Given the description of an element on the screen output the (x, y) to click on. 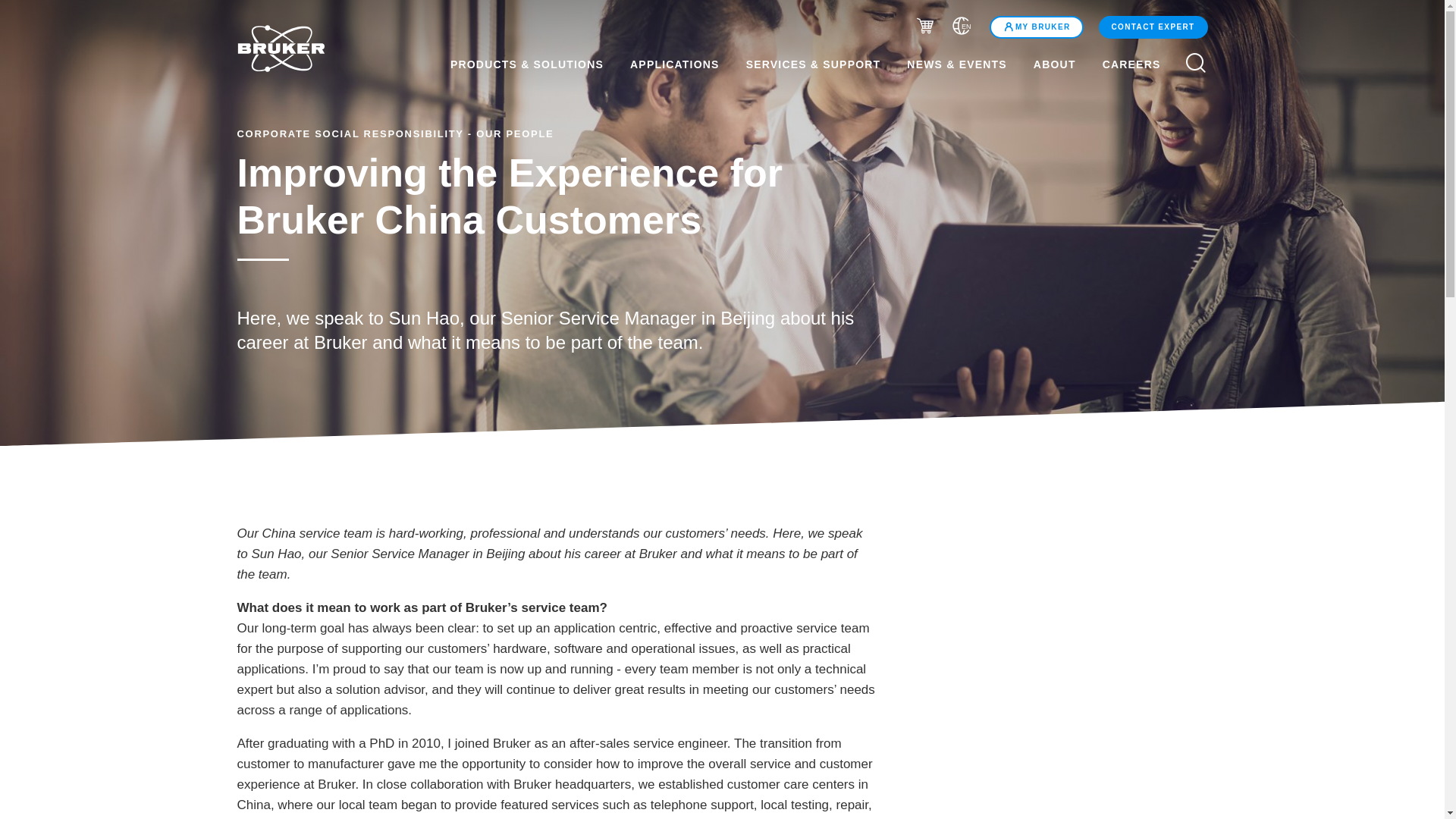
MY BRUKER (1036, 26)
Login (1036, 26)
ABOUT (1054, 64)
Visit the Bruker Store (925, 27)
EN (961, 27)
CAREERS (1141, 64)
APPLICATIONS (674, 64)
CONTACT EXPERT (1153, 26)
CONTACT EXPERT (1151, 27)
